Given the description of an element on the screen output the (x, y) to click on. 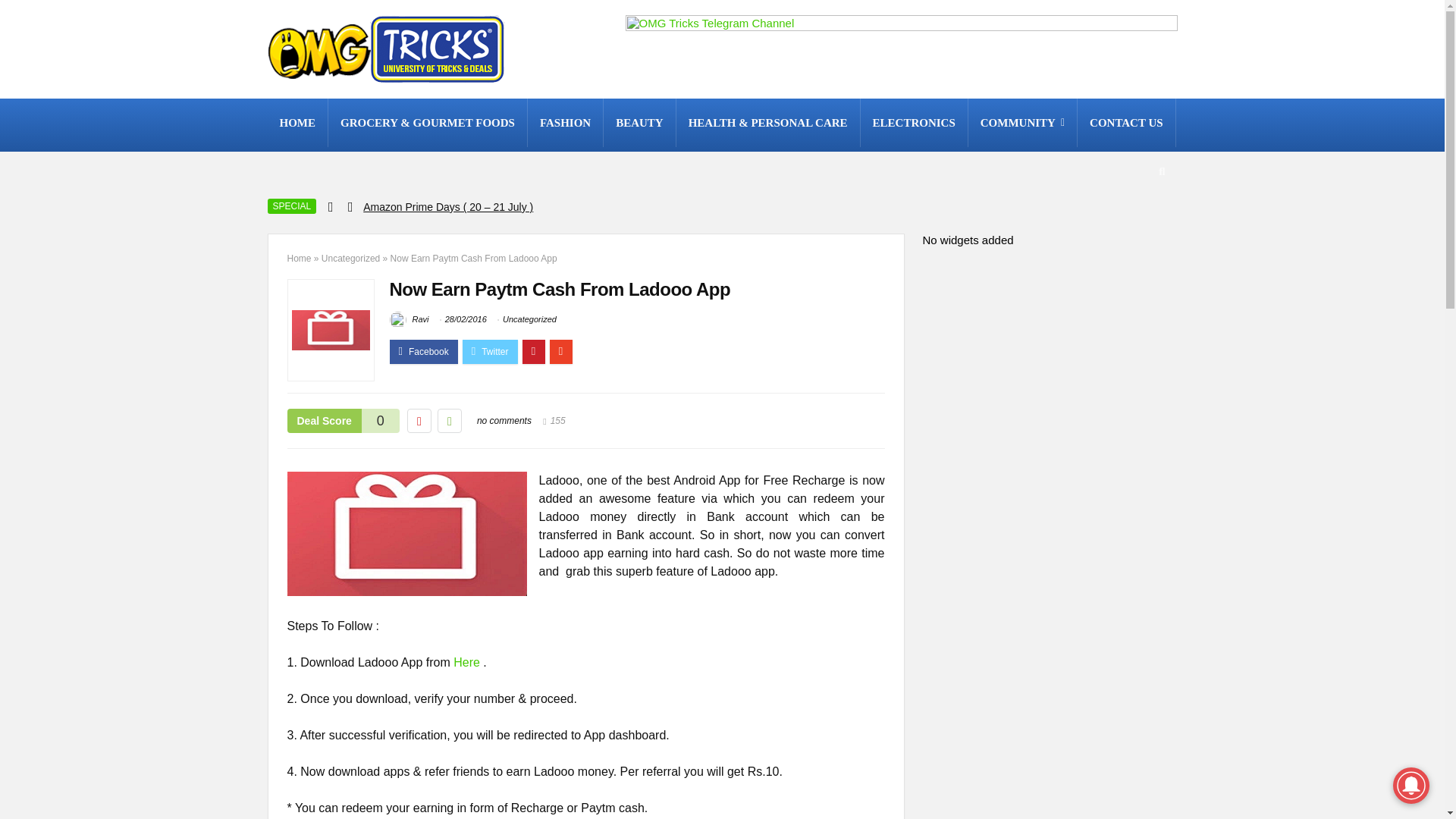
Vote down (418, 420)
Ravi (409, 318)
no comments (504, 420)
FASHION (564, 122)
BEAUTY (639, 122)
OMG Tricks Telegram Channel (900, 49)
HOME (296, 122)
Home (298, 258)
ELECTRONICS (914, 122)
Uncategorized (350, 258)
Here (466, 662)
COMMUNITY (1022, 122)
Vote up (449, 420)
CONTACT US (1125, 122)
Uncategorized (529, 318)
